Given the description of an element on the screen output the (x, y) to click on. 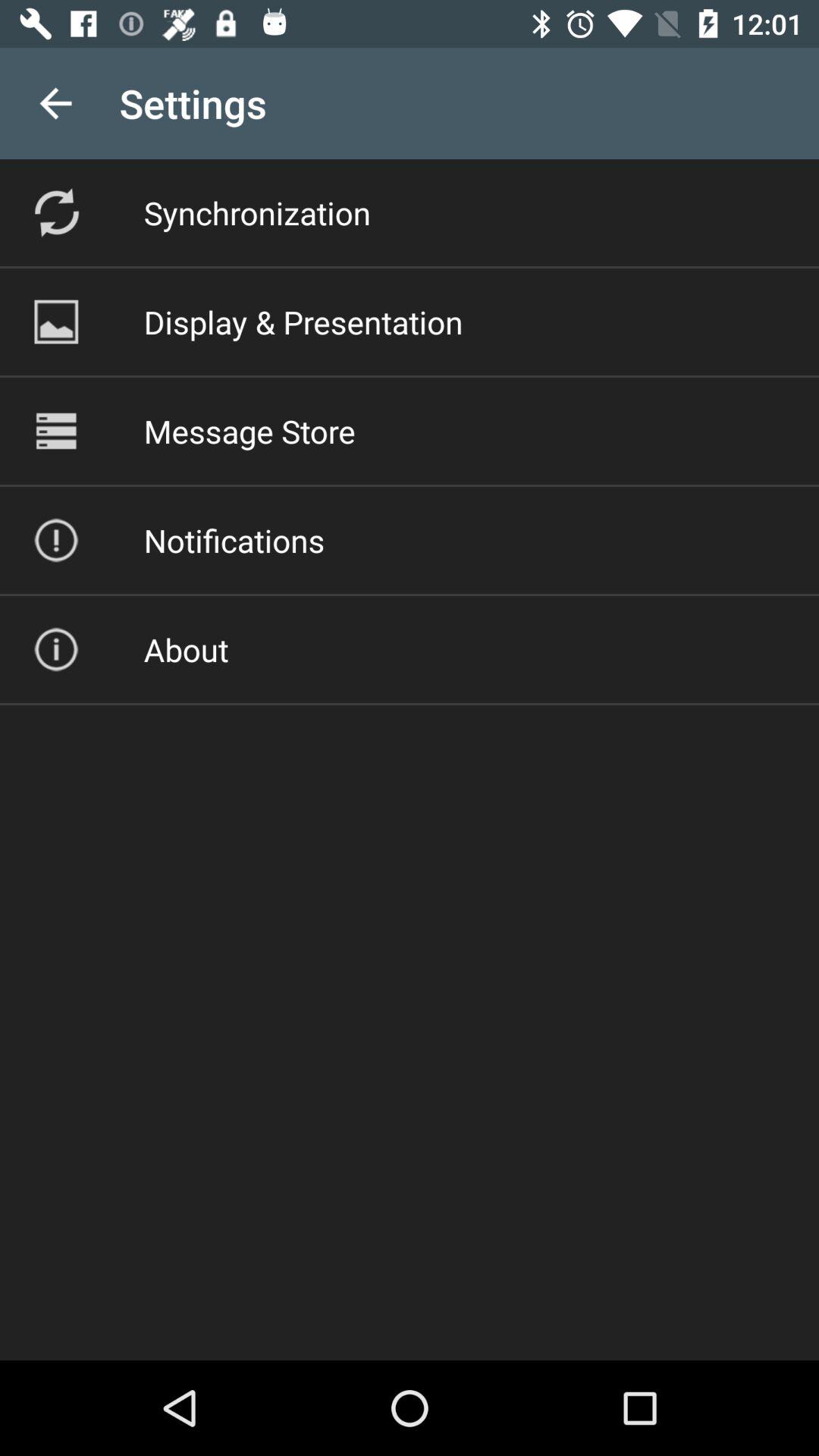
choose the message store icon (249, 430)
